Given the description of an element on the screen output the (x, y) to click on. 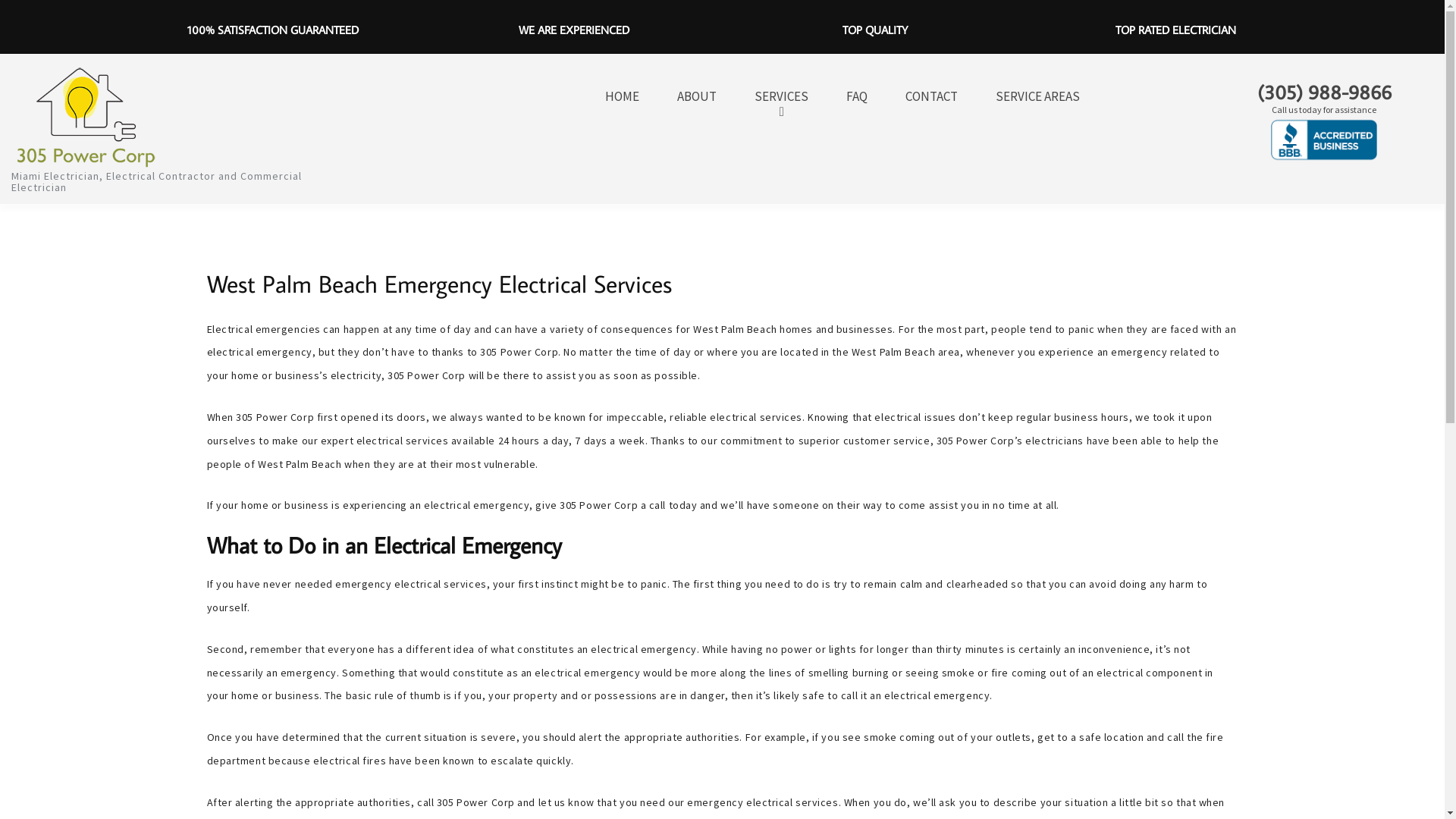
SERVICE AREAS Element type: text (1037, 96)
ABOUT Element type: text (696, 96)
SERVICES Element type: text (781, 96)
Find us on Google Maps Element type: hover (1323, 16)
CONTACT Element type: text (931, 96)
HOME Element type: text (621, 96)
(305) 988-9866 Element type: text (1323, 91)
FAQ Element type: text (856, 96)
